Given the description of an element on the screen output the (x, y) to click on. 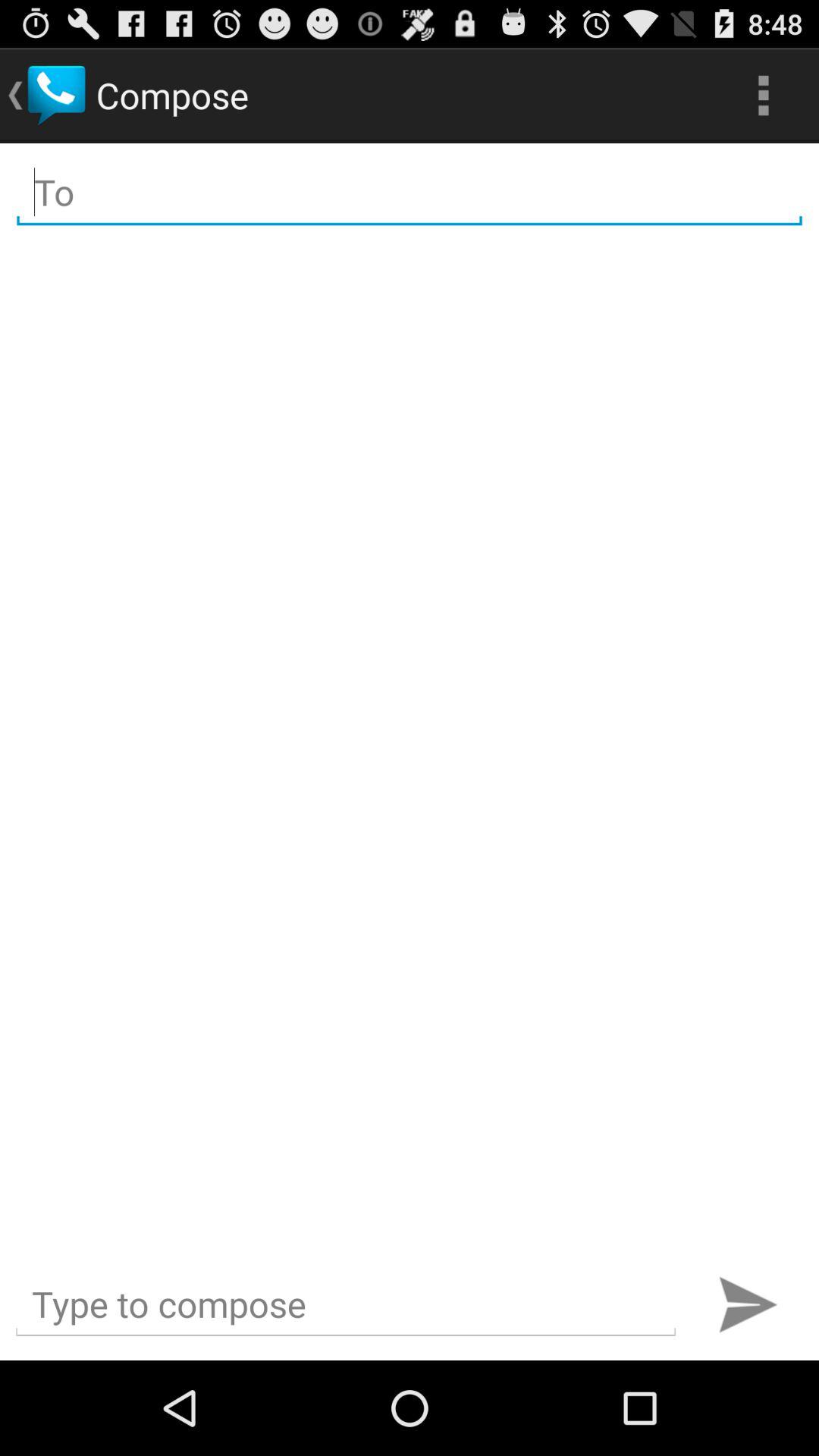
enter text (345, 1304)
